Given the description of an element on the screen output the (x, y) to click on. 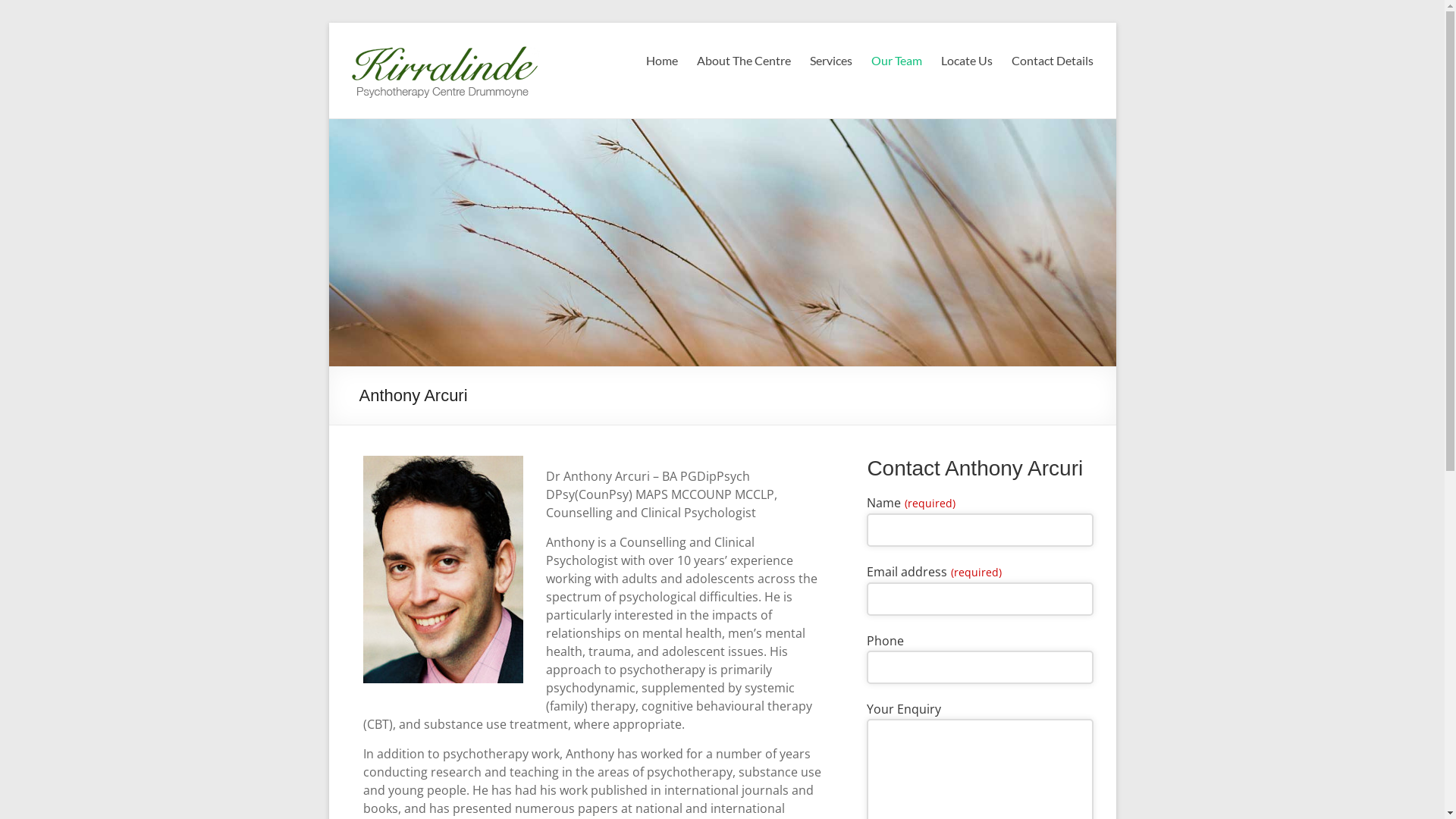
Contact Details Element type: text (1052, 60)
Our Team Element type: text (895, 60)
Services Element type: text (830, 60)
Drummoyne Therapy Centre Element type: text (424, 82)
Home Element type: text (661, 60)
About The Centre Element type: text (743, 60)
Locate Us Element type: text (965, 60)
Skip to content Element type: text (327, 21)
